Given the description of an element on the screen output the (x, y) to click on. 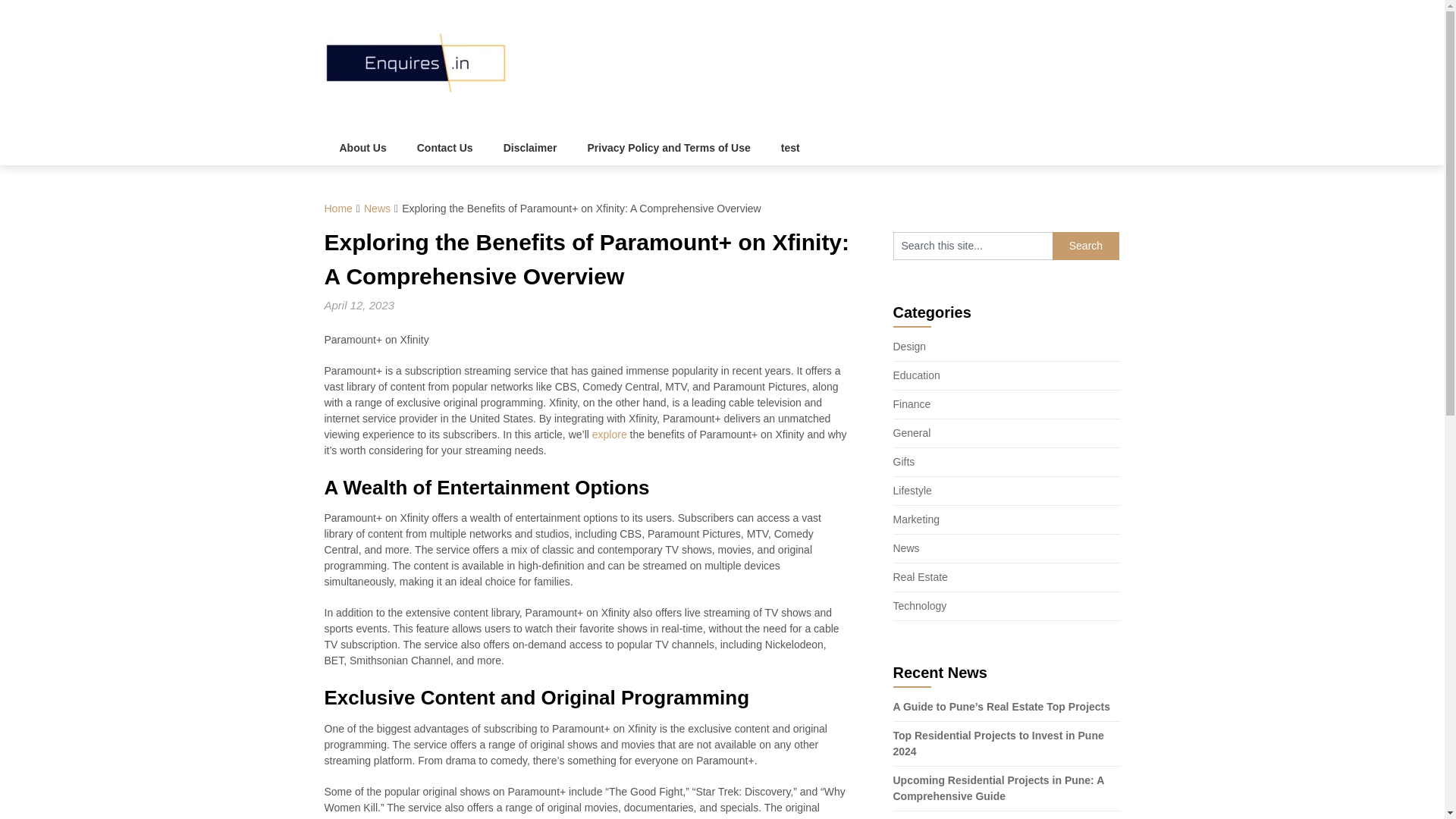
Technology (920, 605)
Home (338, 208)
test (790, 148)
Finance (912, 404)
Top Residential Projects to Invest in Pune 2024 (998, 743)
Gifts (904, 461)
Design (909, 346)
Upcoming Residential Projects in Pune: A Comprehensive Guide (998, 787)
Education (916, 375)
General (912, 432)
